Given the description of an element on the screen output the (x, y) to click on. 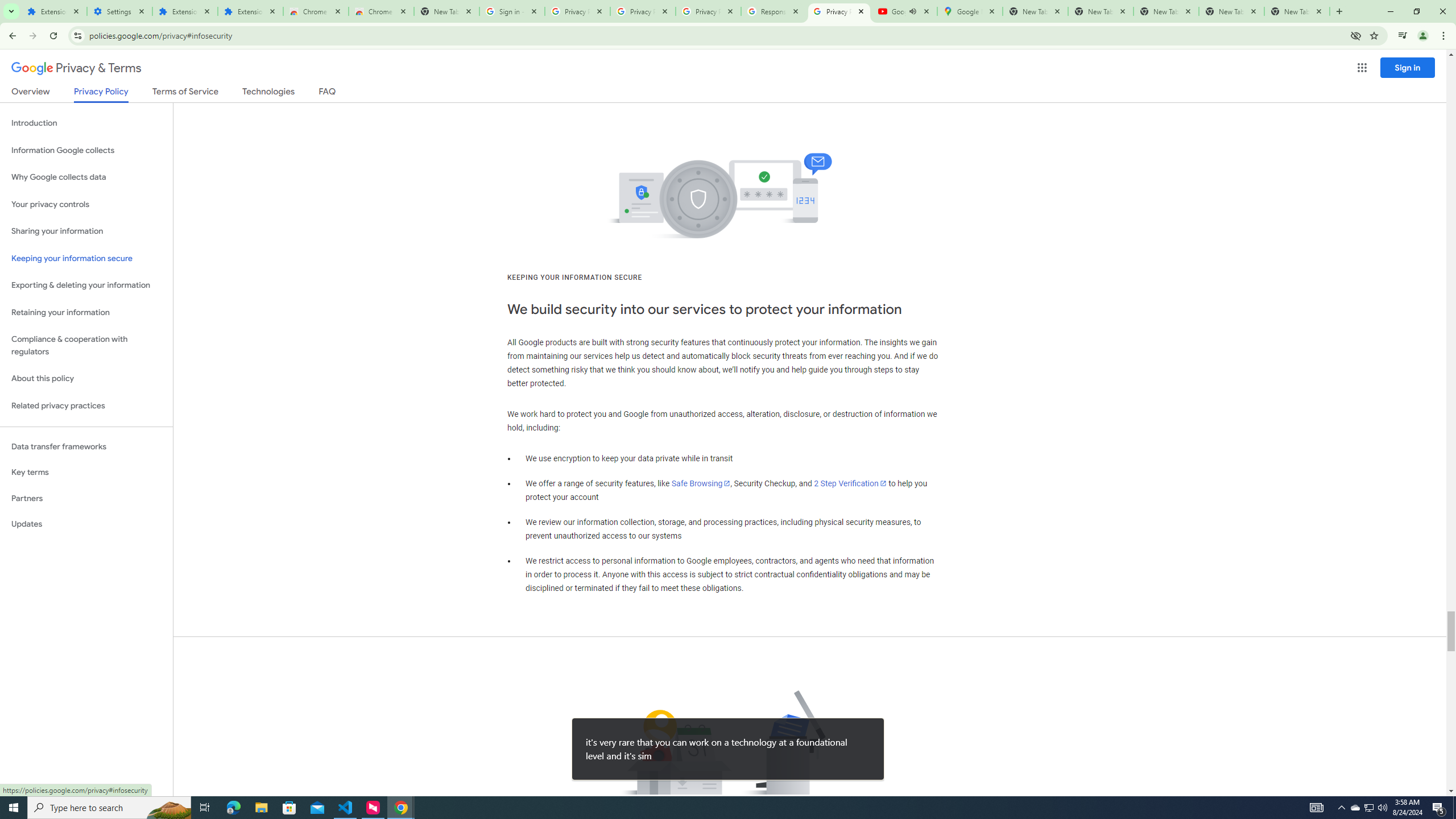
Extensions (184, 11)
Sharing your information (86, 230)
Why Google collects data (86, 176)
Extensions (250, 11)
